Given the description of an element on the screen output the (x, y) to click on. 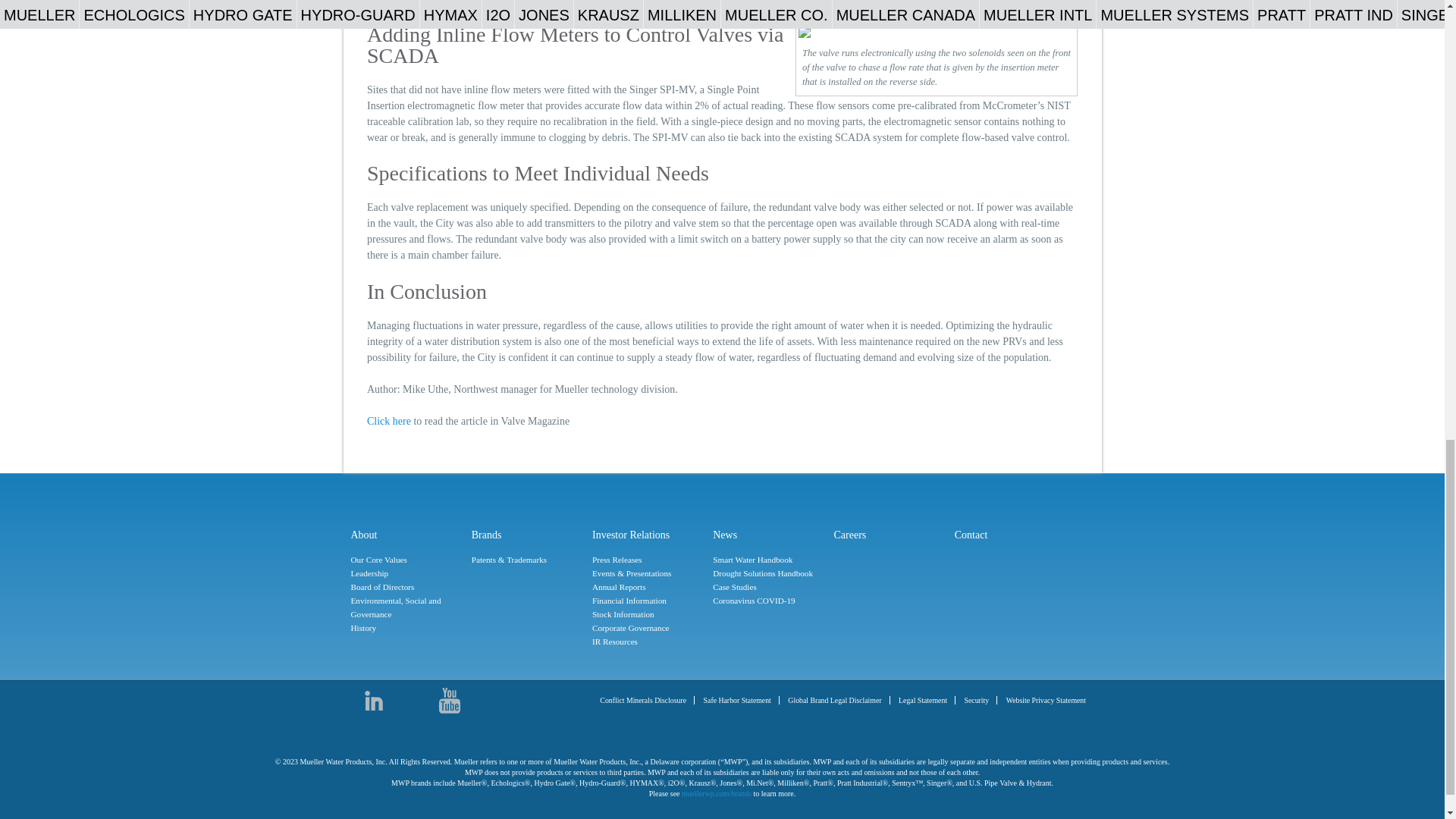
Board of Directors (405, 587)
About (405, 534)
Our Core Values (405, 560)
History (405, 628)
Click here (388, 420)
Leadership (405, 573)
Brands (527, 534)
Press Releases (647, 560)
Environmental, Social and Governance (405, 607)
Investor Relations (647, 534)
